Given the description of an element on the screen output the (x, y) to click on. 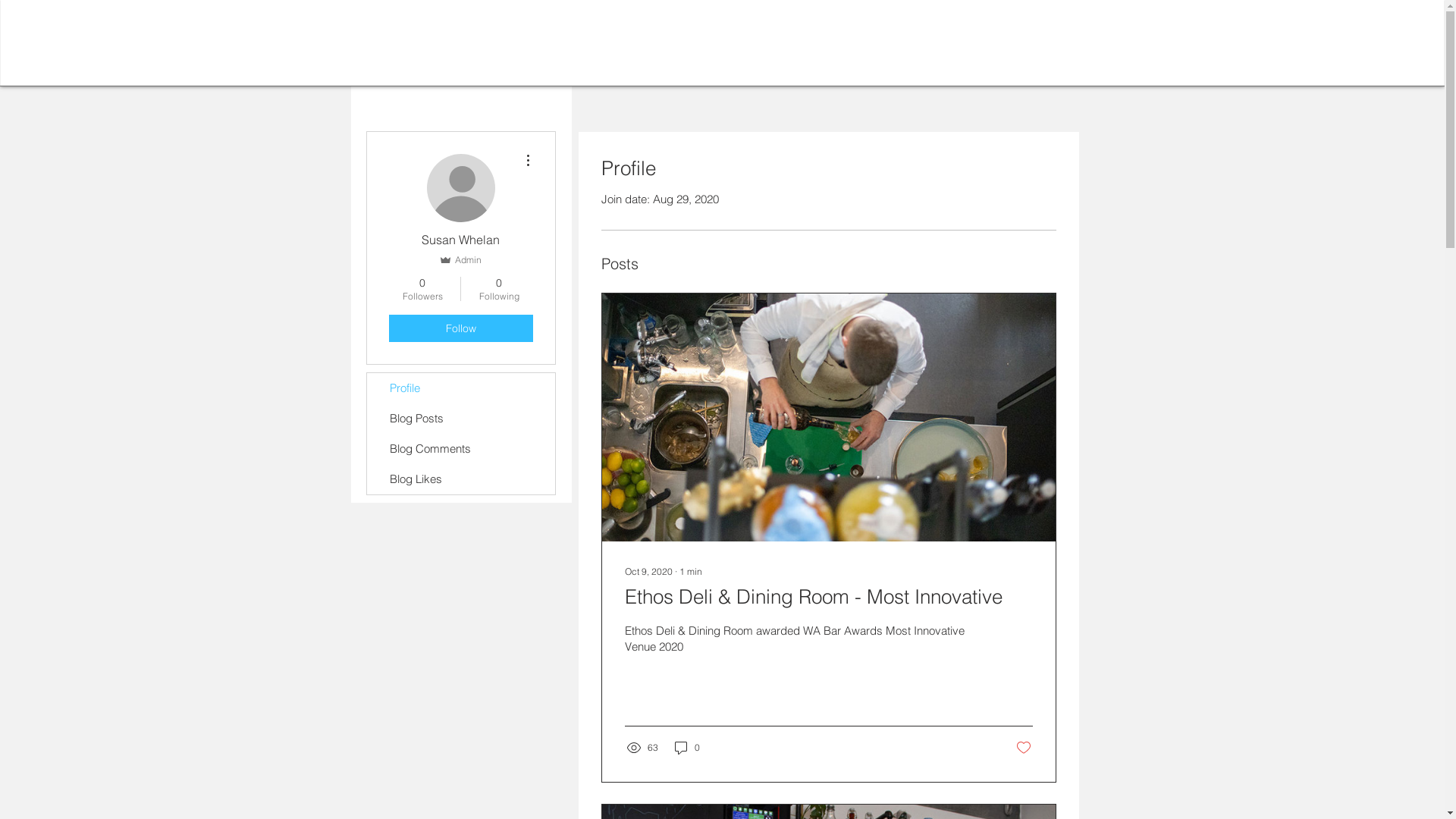
Blog Likes Element type: text (461, 479)
Profile Element type: text (461, 388)
0
Following Element type: text (499, 288)
Blog Posts Element type: text (461, 418)
Follow Element type: text (460, 328)
Blog Comments Element type: text (461, 448)
0
Followers Element type: text (421, 288)
